Given the description of an element on the screen output the (x, y) to click on. 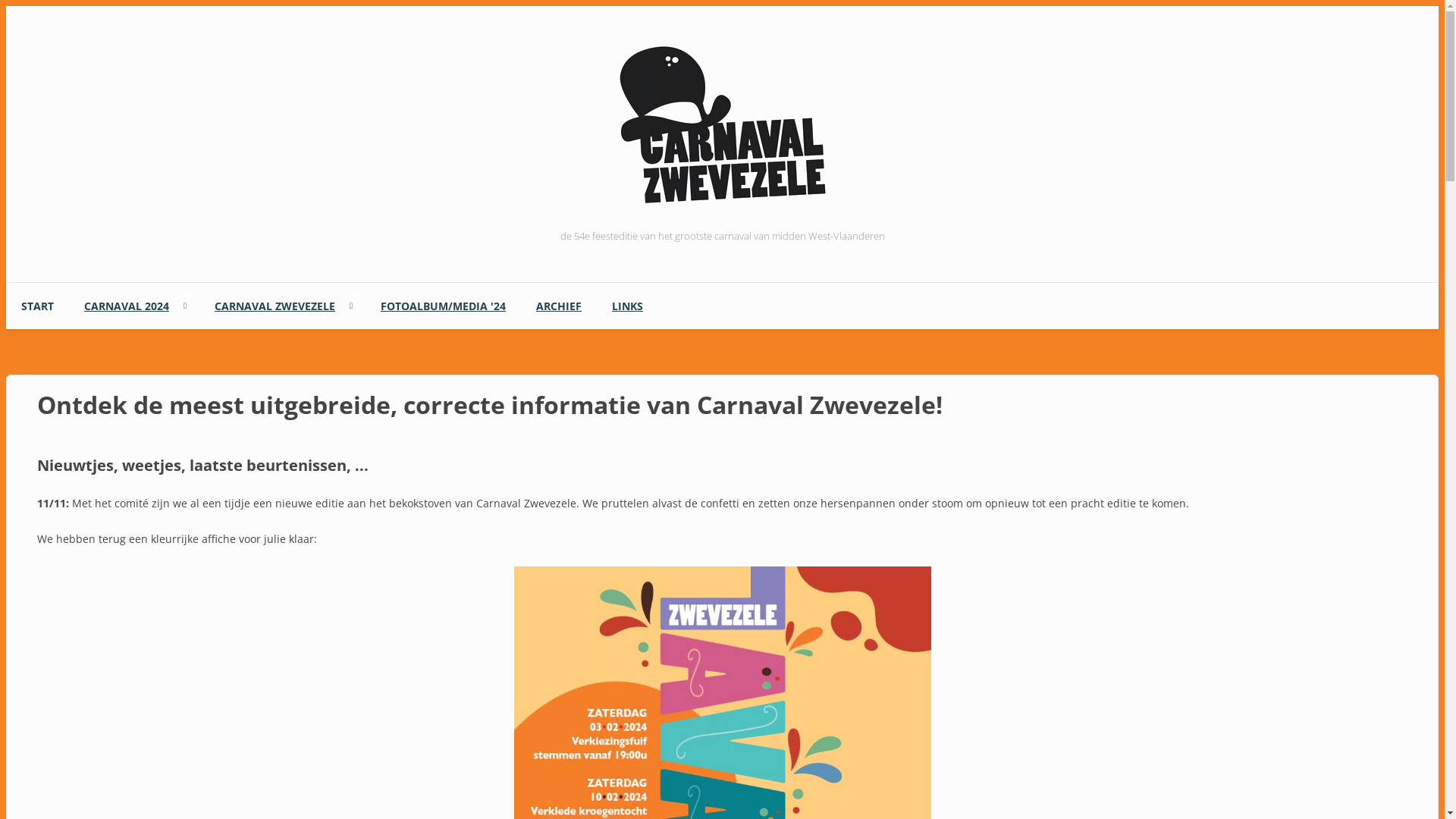
FOTOALBUM/MEDIA '24 Element type: text (442, 305)
Home Element type: hover (721, 208)
ARCHIEF Element type: text (558, 305)
LINKS Element type: text (627, 305)
START Element type: text (37, 305)
Skip to main content Element type: text (58, 6)
